Given the description of an element on the screen output the (x, y) to click on. 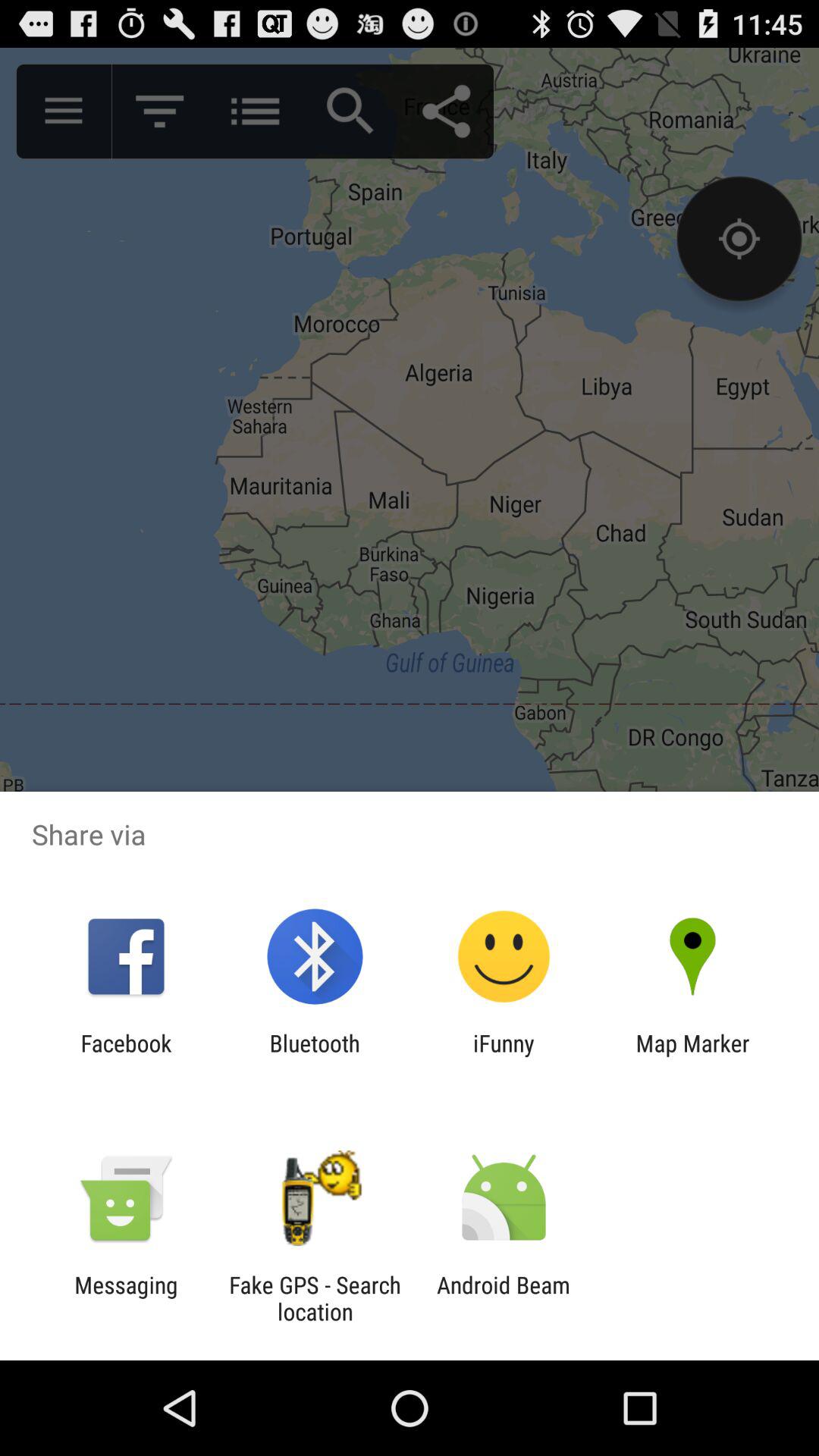
press app to the left of the ifunny item (314, 1056)
